Given the description of an element on the screen output the (x, y) to click on. 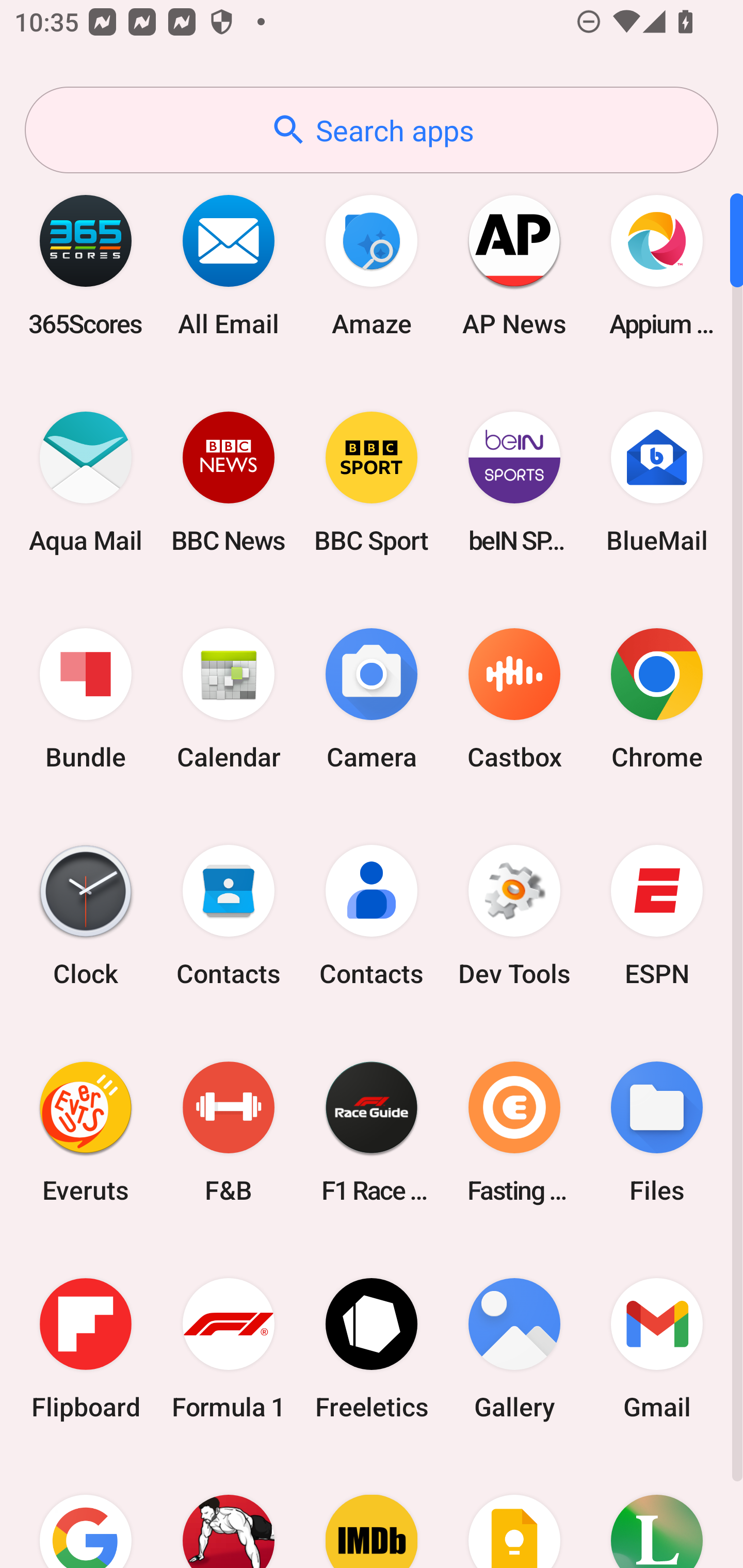
  Search apps (371, 130)
365Scores (85, 264)
All Email (228, 264)
Amaze (371, 264)
AP News (514, 264)
Appium Settings (656, 264)
Aqua Mail (85, 482)
BBC News (228, 482)
BBC Sport (371, 482)
beIN SPORTS (514, 482)
BlueMail (656, 482)
Bundle (85, 699)
Calendar (228, 699)
Camera (371, 699)
Castbox (514, 699)
Chrome (656, 699)
Clock (85, 915)
Contacts (228, 915)
Contacts (371, 915)
Dev Tools (514, 915)
ESPN (656, 915)
Everuts (85, 1131)
F&B (228, 1131)
F1 Race Guide (371, 1131)
Fasting Coach (514, 1131)
Files (656, 1131)
Flipboard (85, 1348)
Formula 1 (228, 1348)
Freeletics (371, 1348)
Gallery (514, 1348)
Gmail (656, 1348)
Google (85, 1512)
Home Workout (228, 1512)
IMDb (371, 1512)
Keep Notes (514, 1512)
Lifesum (656, 1512)
